Given the description of an element on the screen output the (x, y) to click on. 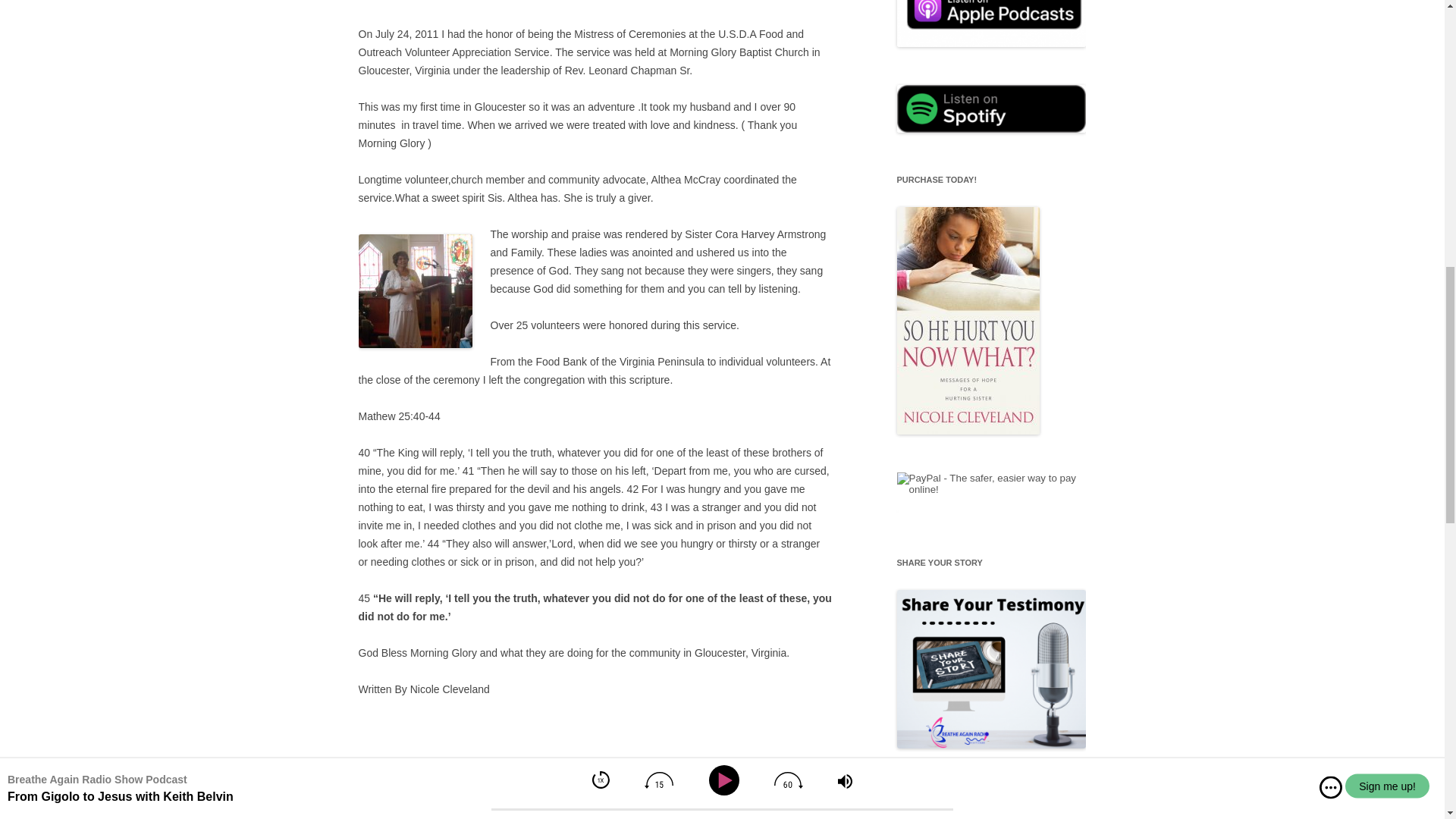
Althea McCray (414, 291)
Around Town (494, 797)
Virginia (423, 814)
Morning Glory Baptist Church (695, 797)
Nicole Cleveland (575, 805)
Volunteer Appreciation (494, 814)
July 31, 2011 (589, 814)
Purchase Today!  (967, 430)
Share Your Story  (991, 744)
Gloucester (602, 797)
